Given the description of an element on the screen output the (x, y) to click on. 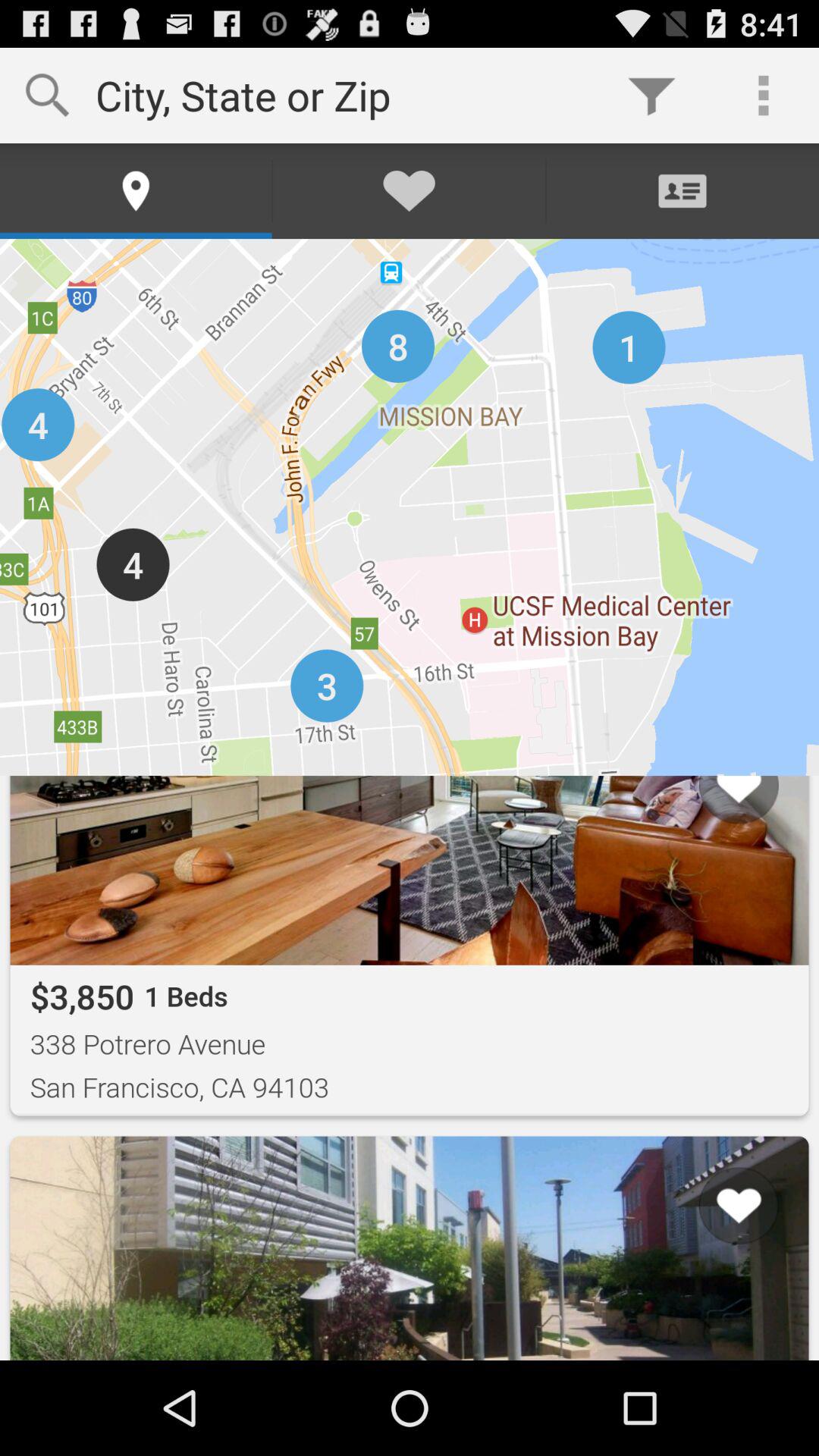
jump to list (719, 1302)
